Given the description of an element on the screen output the (x, y) to click on. 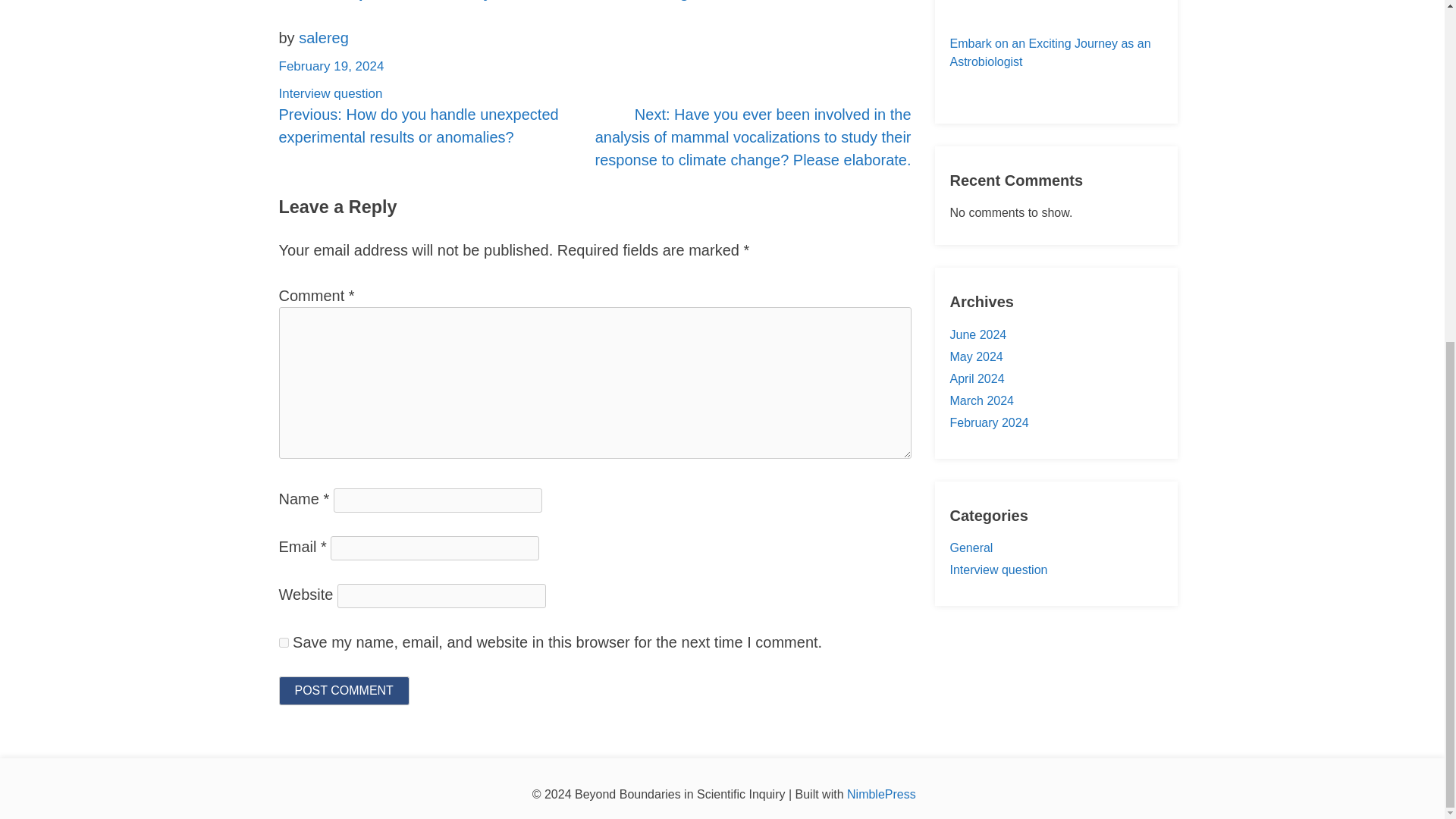
April 2024 (976, 378)
Post Comment (344, 690)
February 2024 (988, 422)
yes (283, 642)
June 2024 (977, 334)
Embark on an Exciting Journey as an Astrobiologist (1055, 53)
NimblePress (881, 794)
Interview question (330, 93)
General (970, 547)
